Given the description of an element on the screen output the (x, y) to click on. 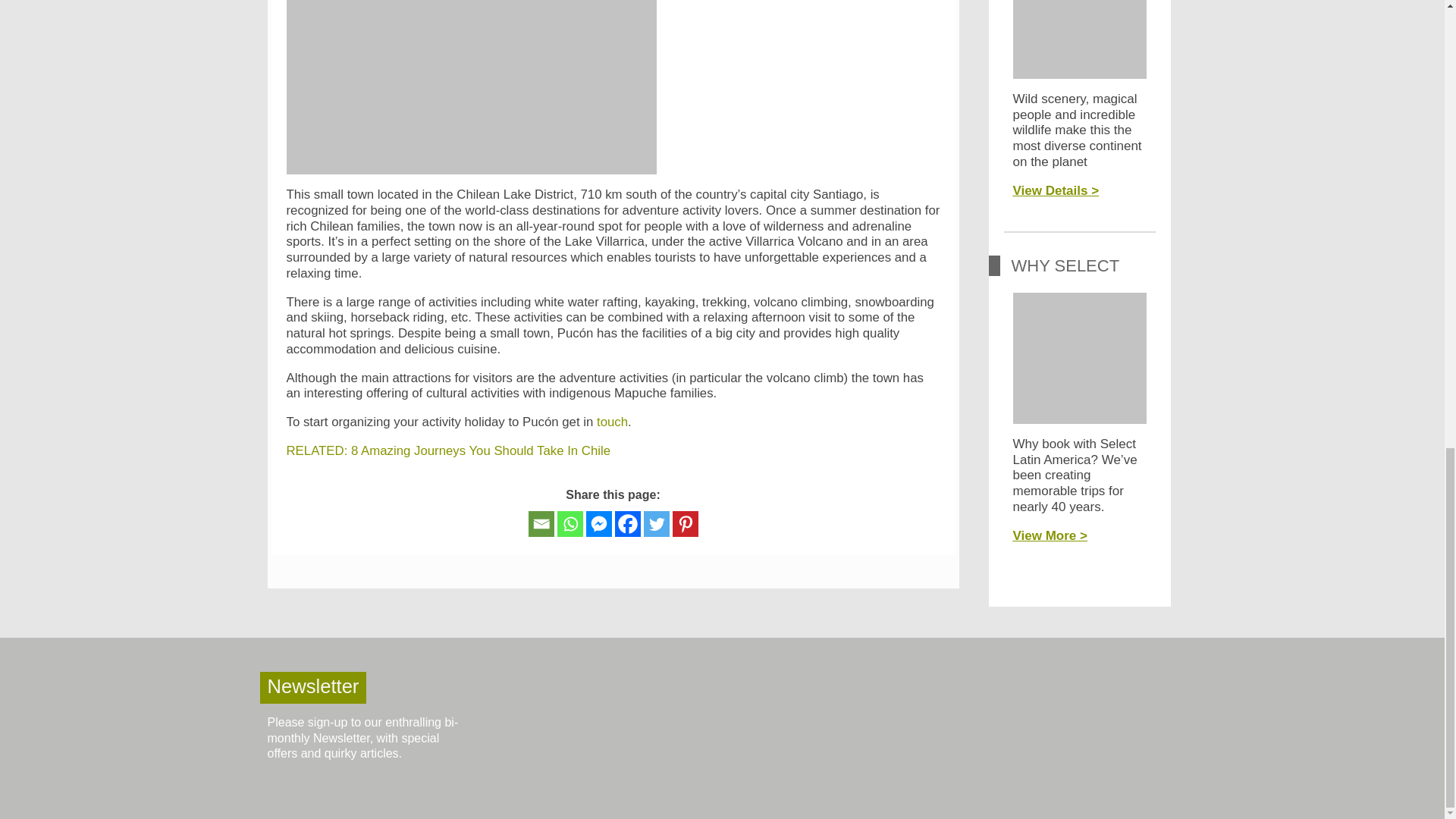
Facebook (627, 524)
Twitter (655, 524)
Pinterest (684, 524)
Whatsapp (569, 524)
Email (540, 524)
